Given the description of an element on the screen output the (x, y) to click on. 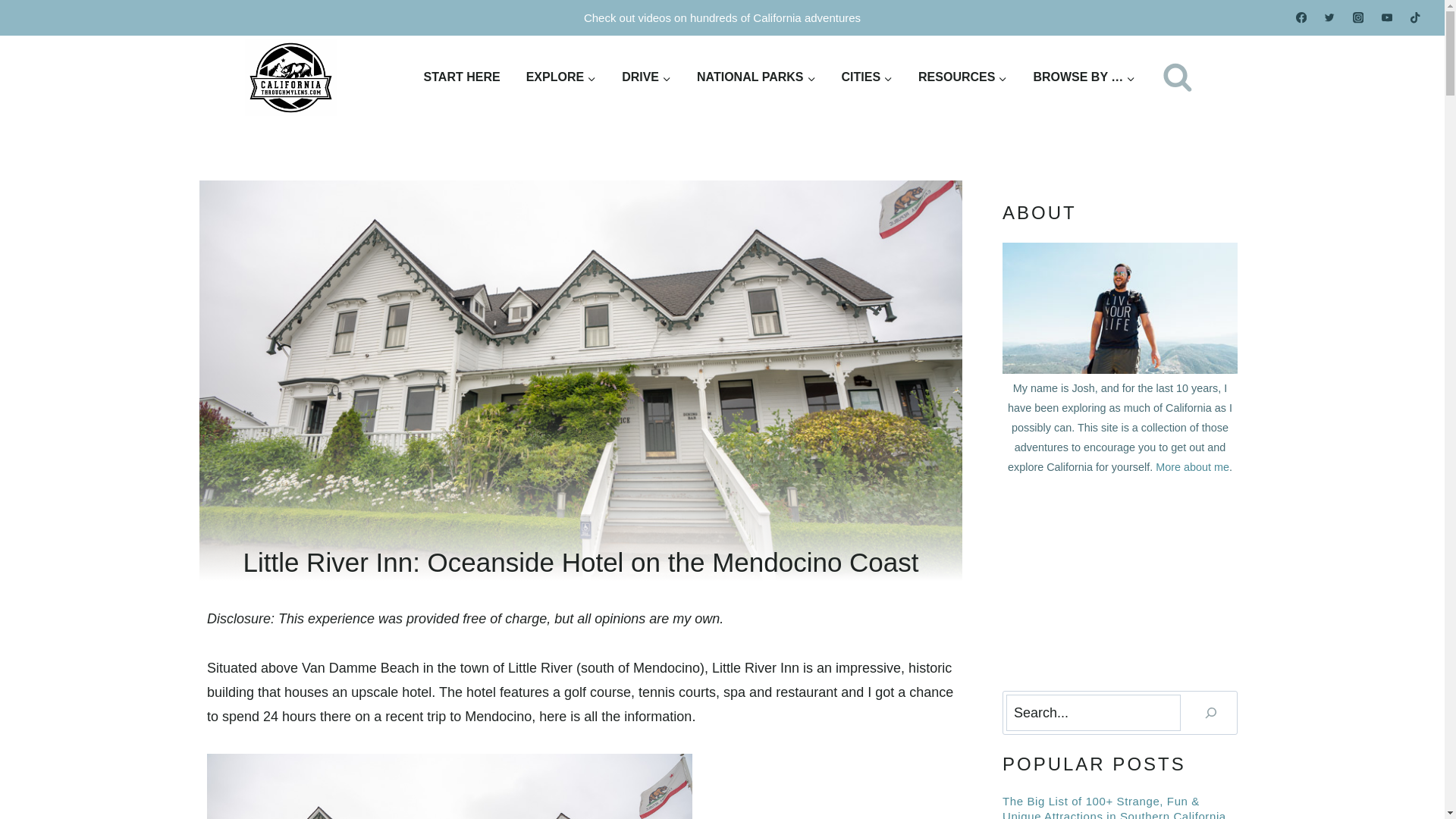
DRIVE (646, 77)
EXPLORE (560, 77)
START HERE (461, 77)
Check out videos on hundreds of California adventures (721, 17)
NATIONAL PARKS (756, 77)
CITIES (866, 77)
